Given the description of an element on the screen output the (x, y) to click on. 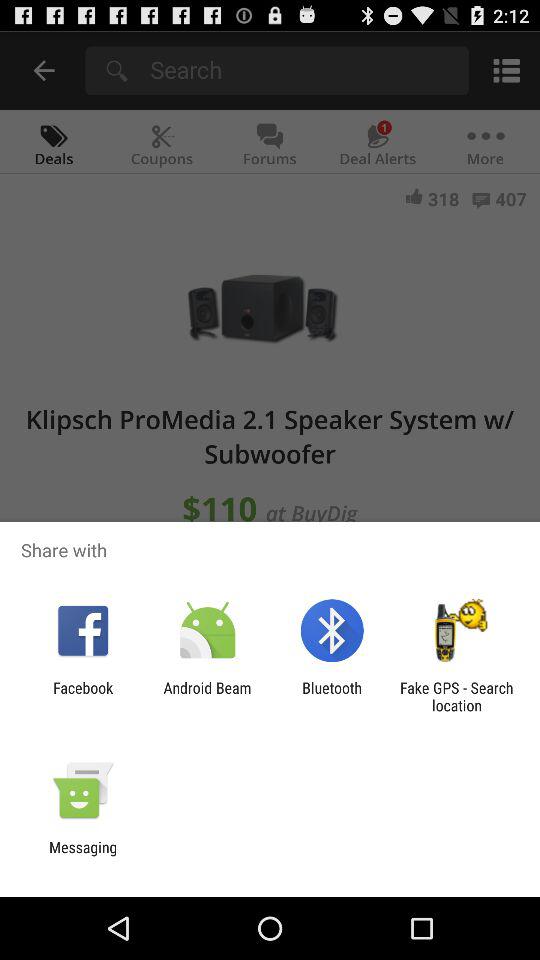
swipe until facebook (83, 696)
